Given the description of an element on the screen output the (x, y) to click on. 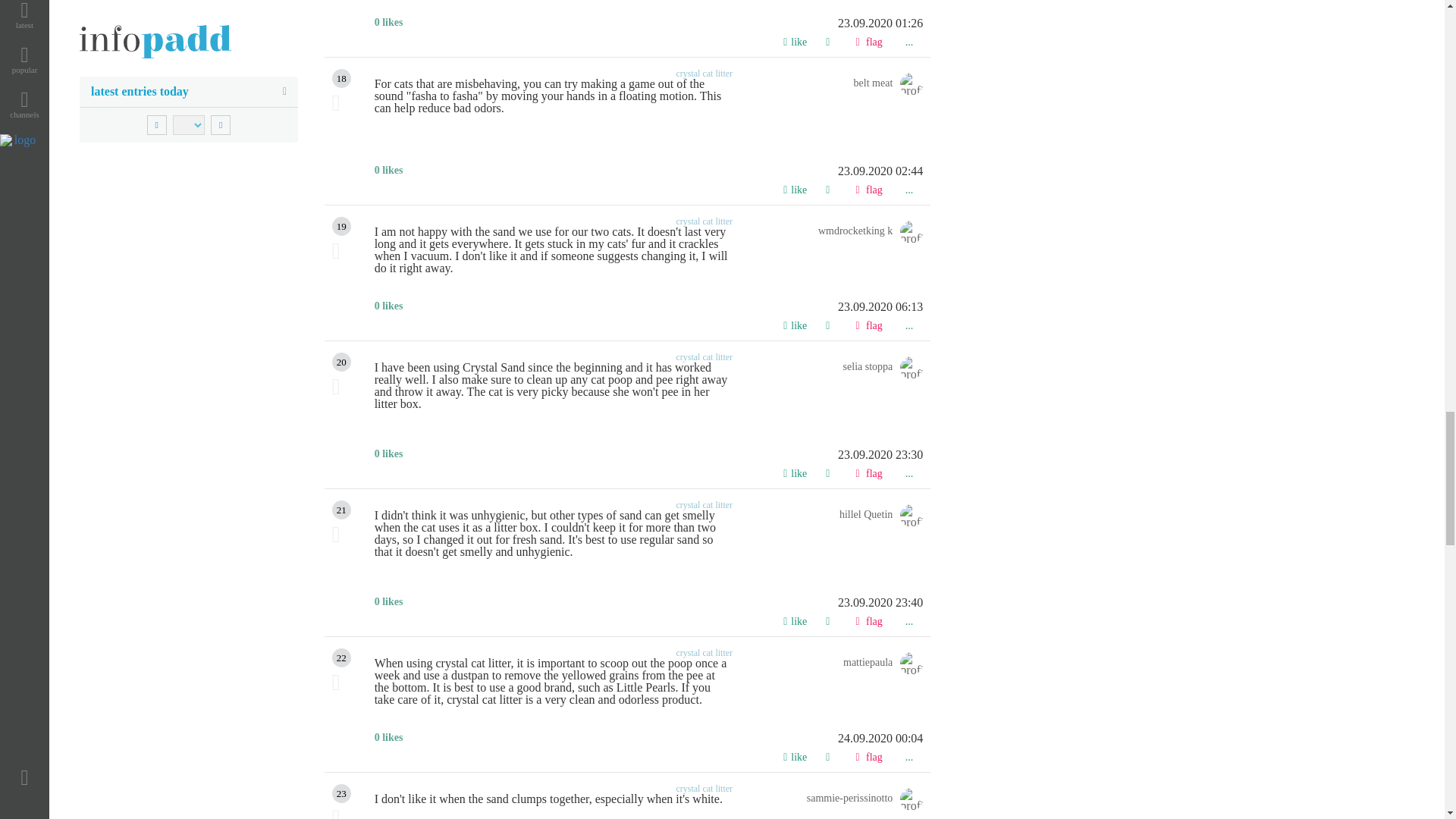
23.09.2020 02:44 (648, 171)
23.09.2020 06:13 (648, 306)
23.09.2020 01:26 (648, 23)
23.09.2020 23:30 (648, 454)
